Given the description of an element on the screen output the (x, y) to click on. 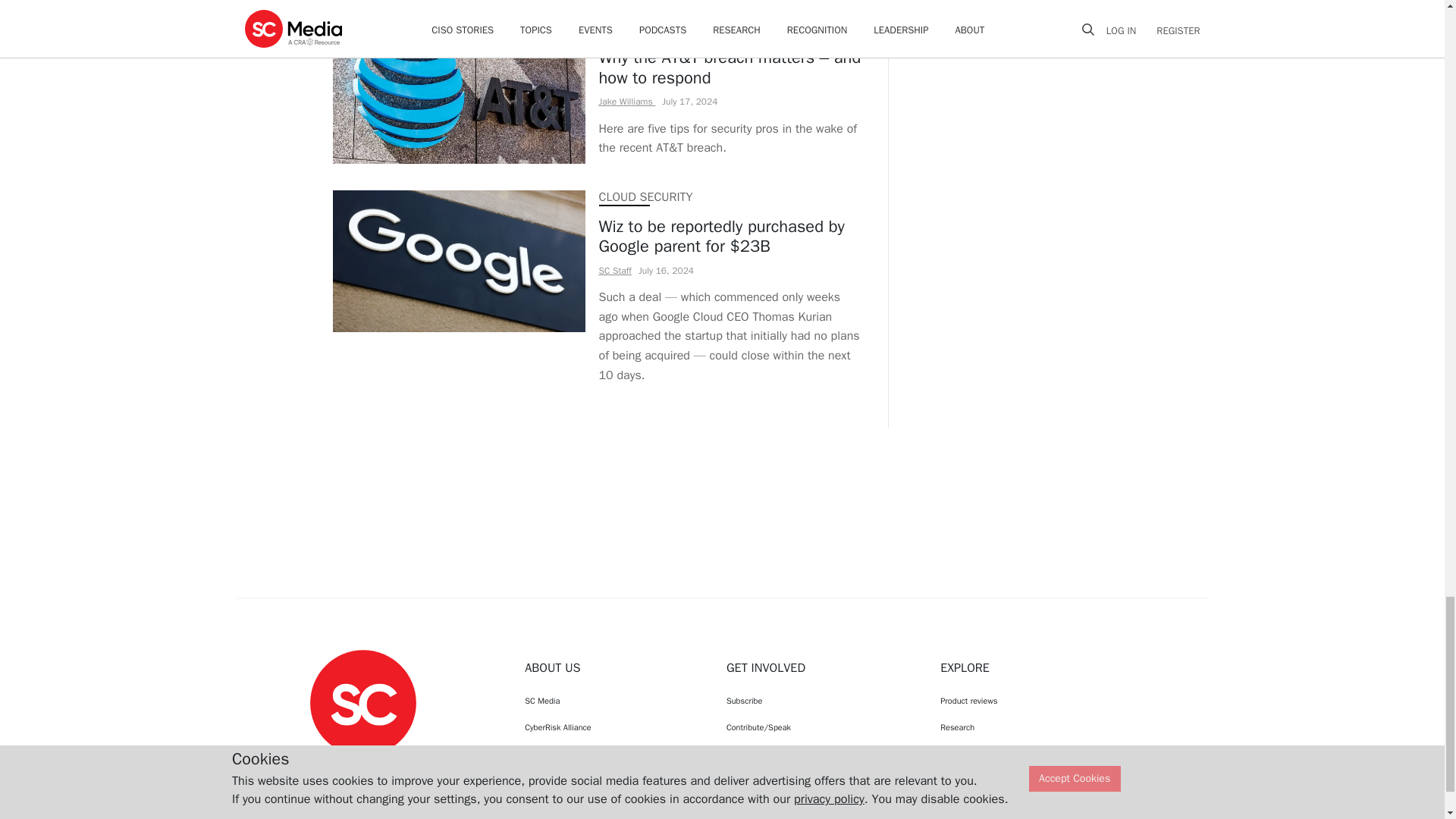
SCMagazine on Facebook (324, 769)
Jake Williams (627, 101)
SCMagazine on LinkedIn (401, 769)
SC Staff (614, 270)
BREACH (620, 28)
SCMagazine on Twitter (362, 769)
CLOUD SECURITY (645, 196)
SC Media (362, 701)
